Given the description of an element on the screen output the (x, y) to click on. 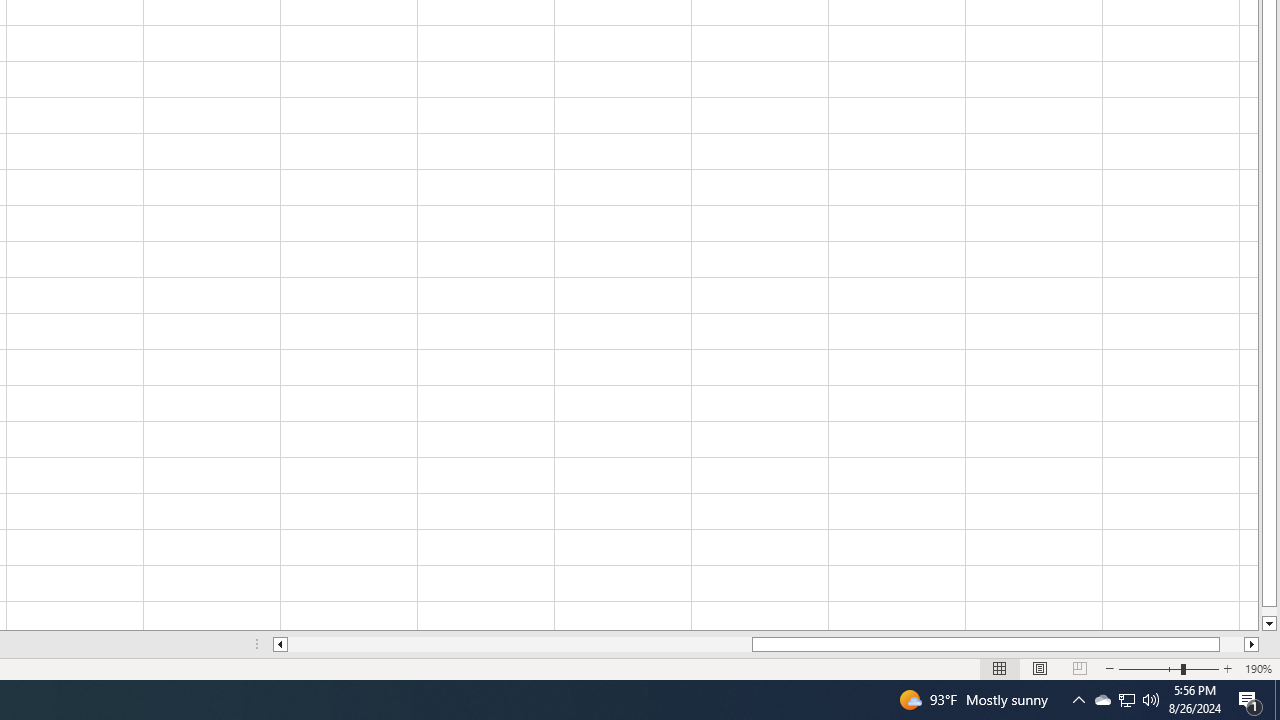
Zoom (1168, 668)
Column right (1252, 644)
Zoom In (1227, 668)
Page right (1231, 644)
Normal (1000, 668)
Class: NetUIScrollBar (765, 644)
Page down (1268, 611)
Zoom Out (1149, 668)
Page Break Preview (1079, 668)
Column left (279, 644)
Line down (1268, 624)
Page left (520, 644)
